Given the description of an element on the screen output the (x, y) to click on. 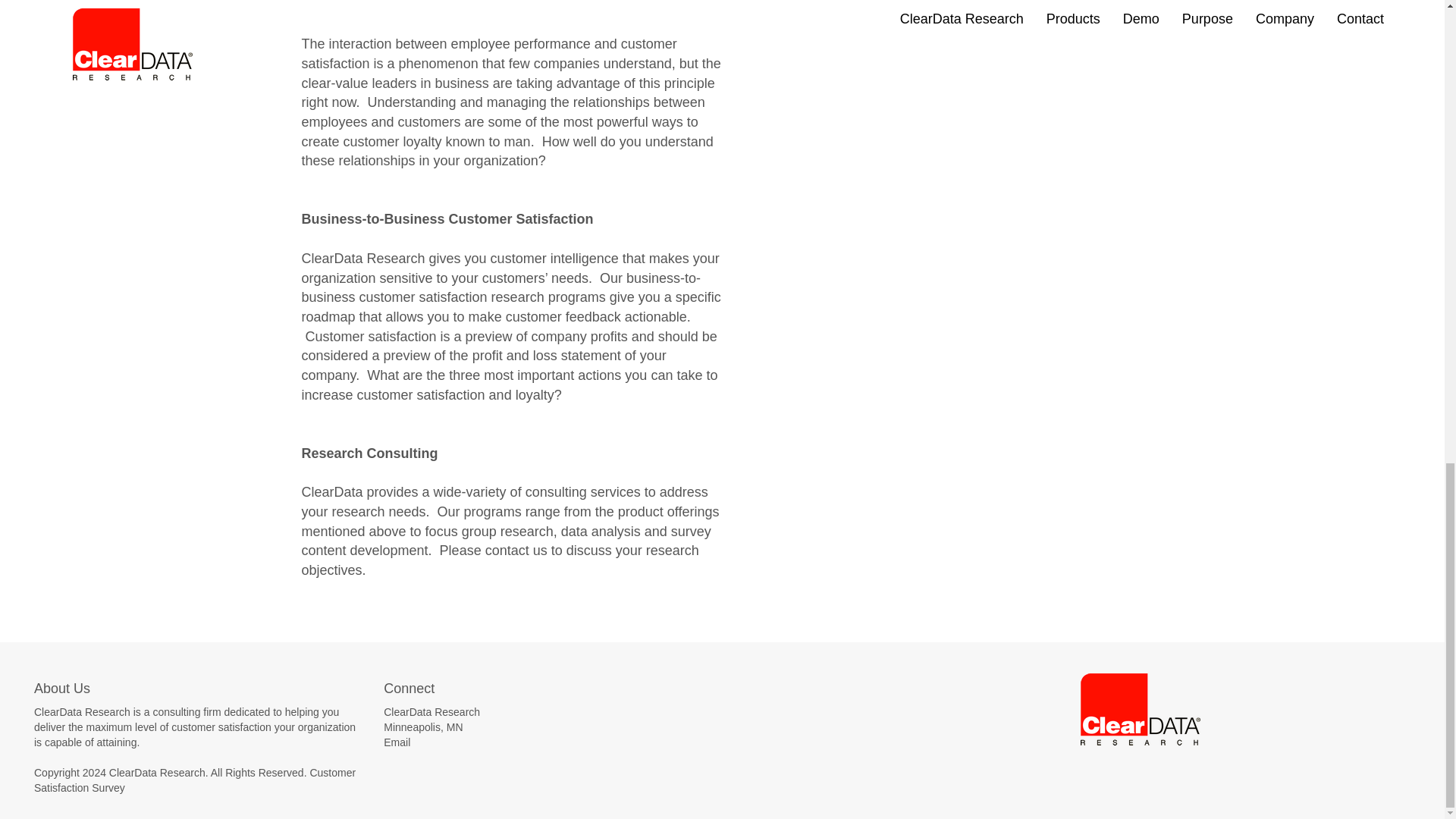
ClearData Research and Customer Satisfaction Surveys (160, 772)
Email (397, 742)
Customer Satisfaction Survey (194, 779)
ClearData Research. (160, 772)
